Given the description of an element on the screen output the (x, y) to click on. 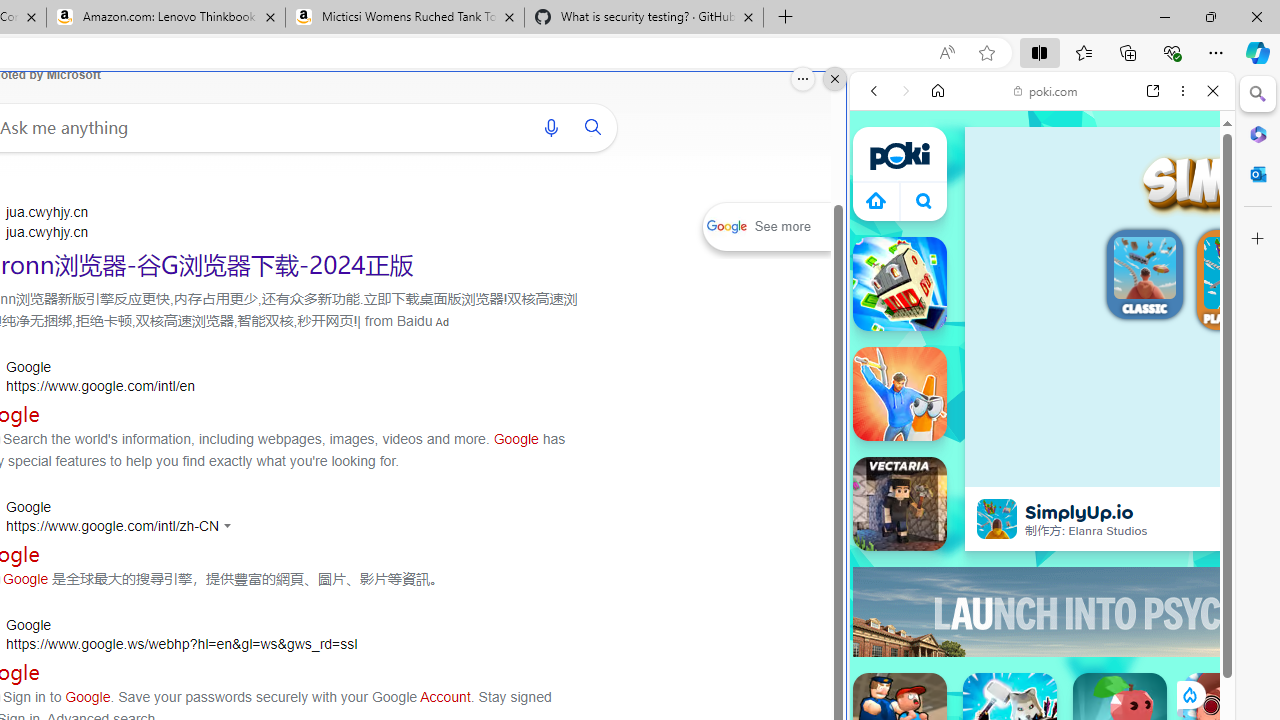
Io Games (1042, 616)
Shooting Games (1042, 519)
Show More Shooting Games (1164, 521)
Class: hvLtMSipvVng82x9Seuh (997, 519)
Sports Games (1042, 666)
Vectaria.io (899, 503)
SimplyUp.io (996, 518)
